Given the description of an element on the screen output the (x, y) to click on. 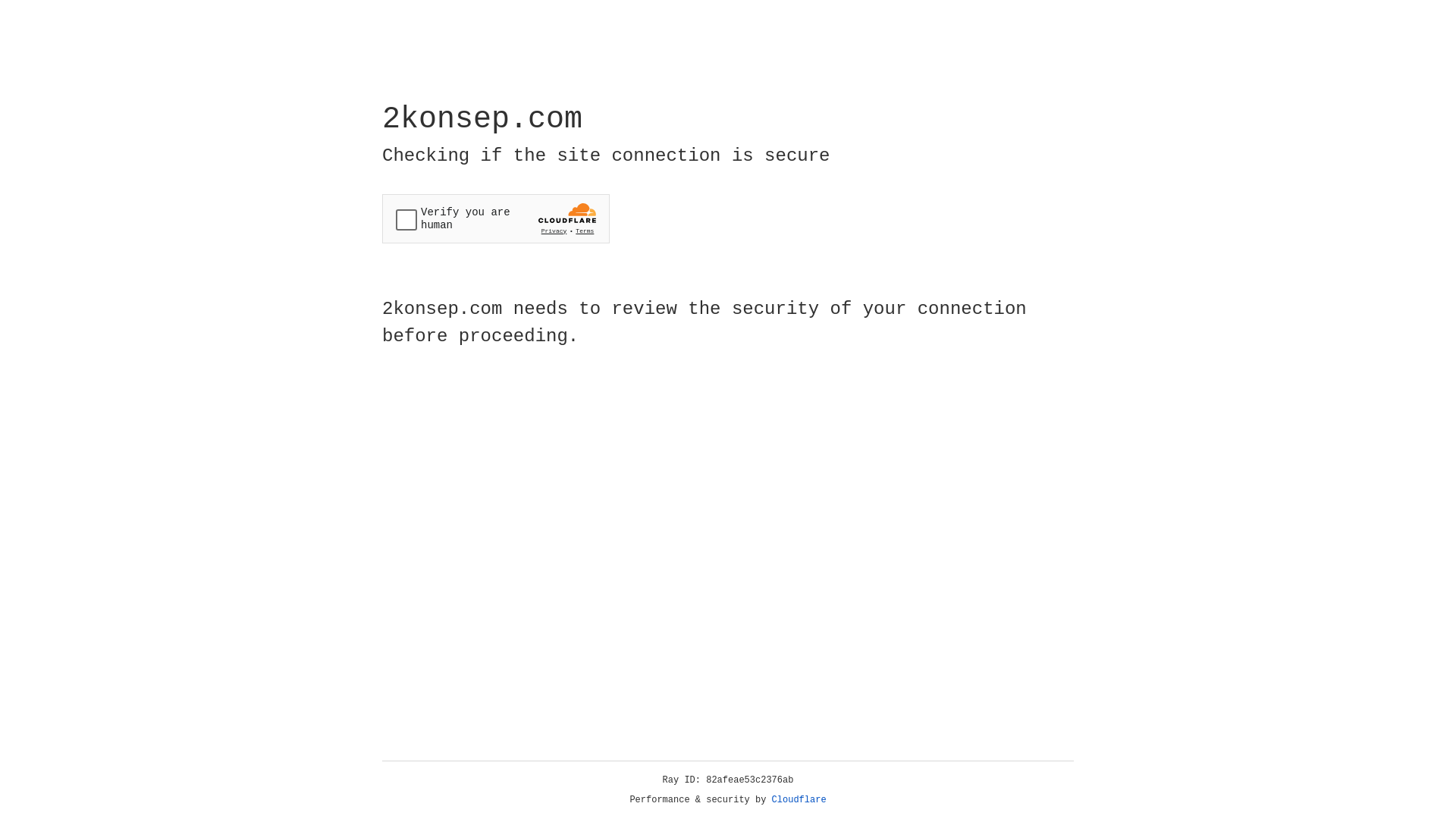
Widget containing a Cloudflare security challenge Element type: hover (495, 218)
Cloudflare Element type: text (798, 799)
